Given the description of an element on the screen output the (x, y) to click on. 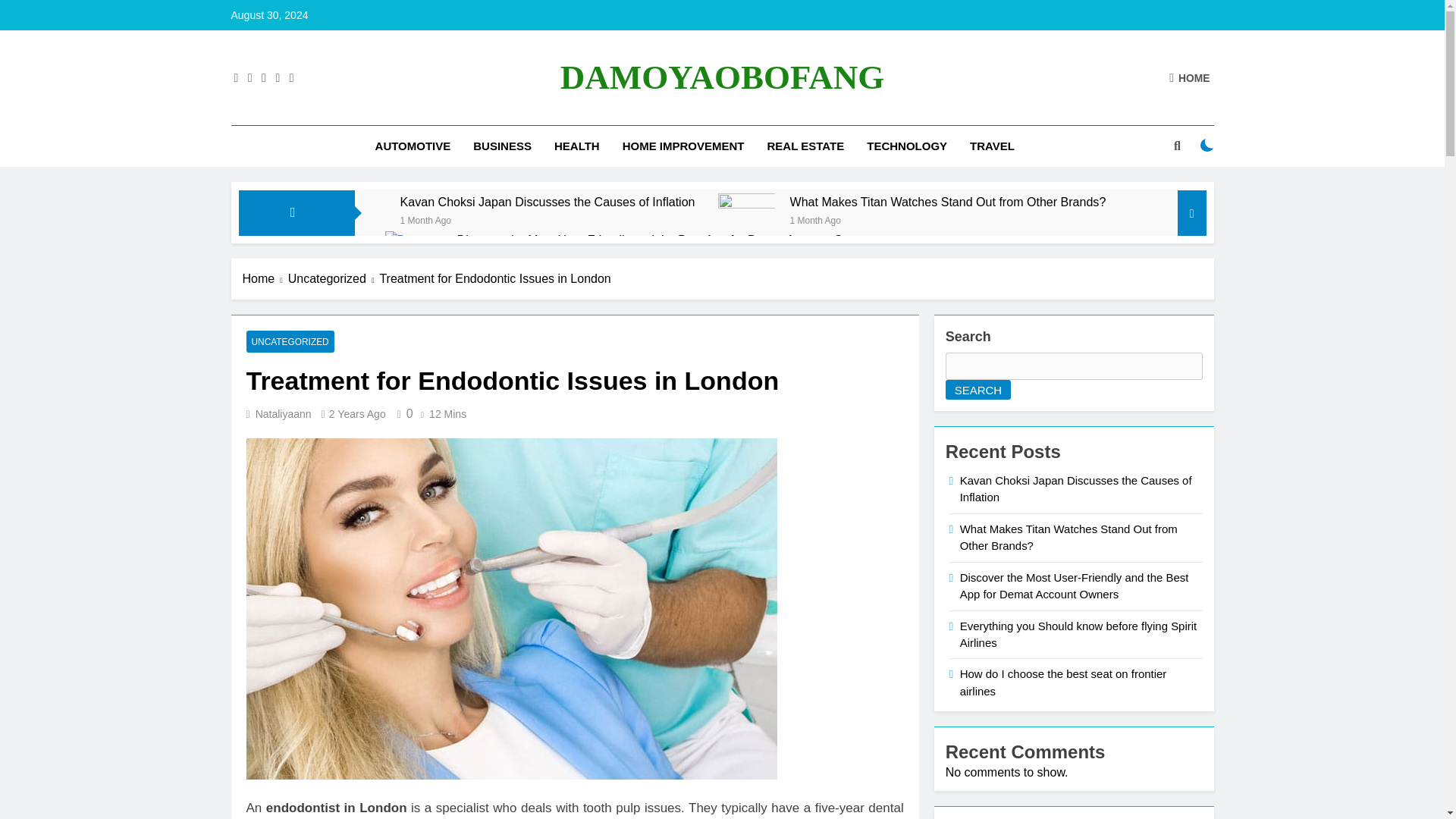
AUTOMOTIVE (413, 146)
HOME (1189, 77)
TECHNOLOGY (907, 146)
UNCATEGORIZED (289, 341)
TRAVEL (992, 146)
What Makes Titan Watches Stand Out from Other Brands? (745, 221)
Kavan Choksi Japan Discusses the Causes of Inflation (547, 201)
BUSINESS (502, 146)
What Makes Titan Watches Stand Out from Other Brands? (948, 201)
